Given the description of an element on the screen output the (x, y) to click on. 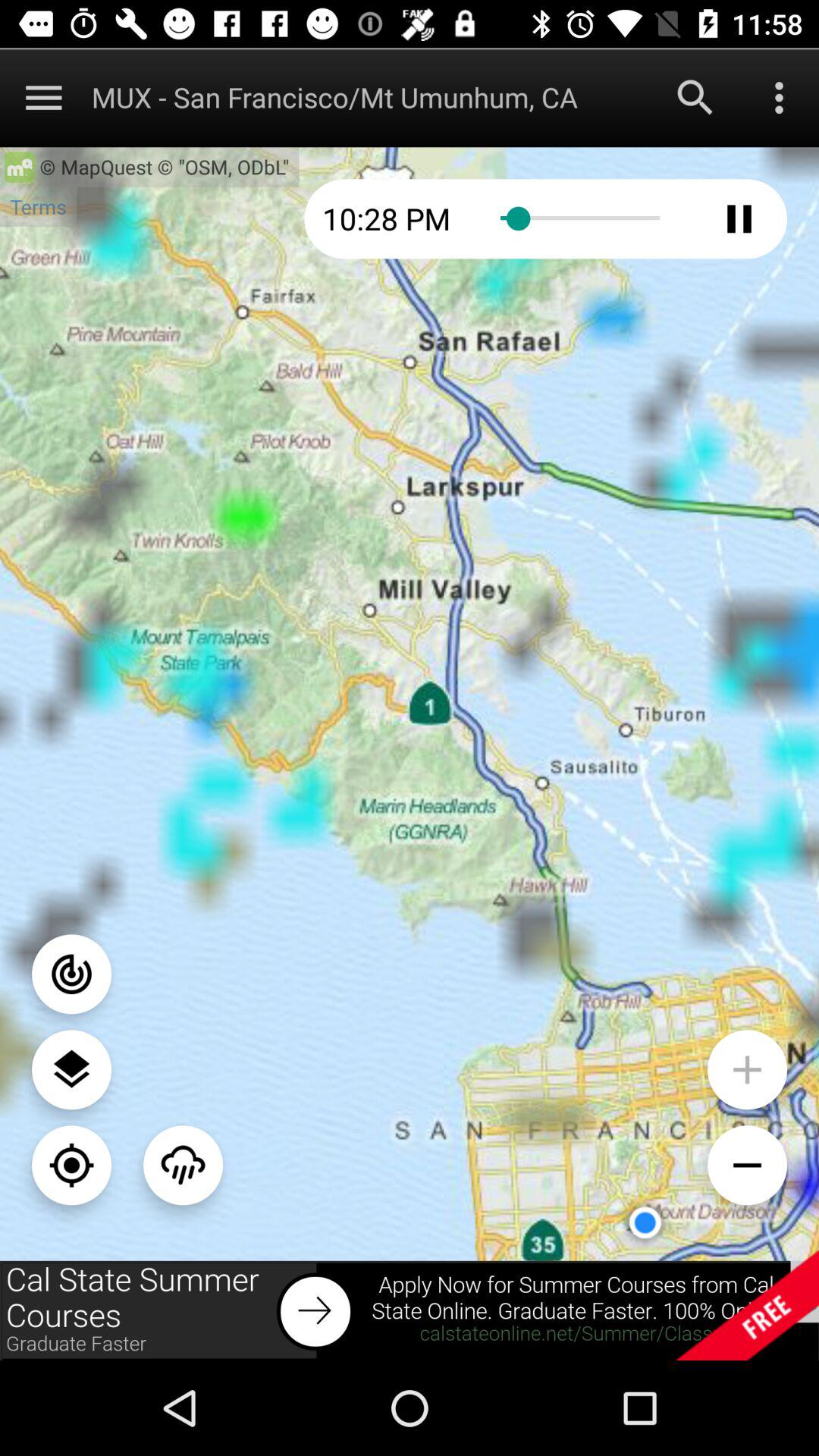
more menu options (779, 97)
